Given the description of an element on the screen output the (x, y) to click on. 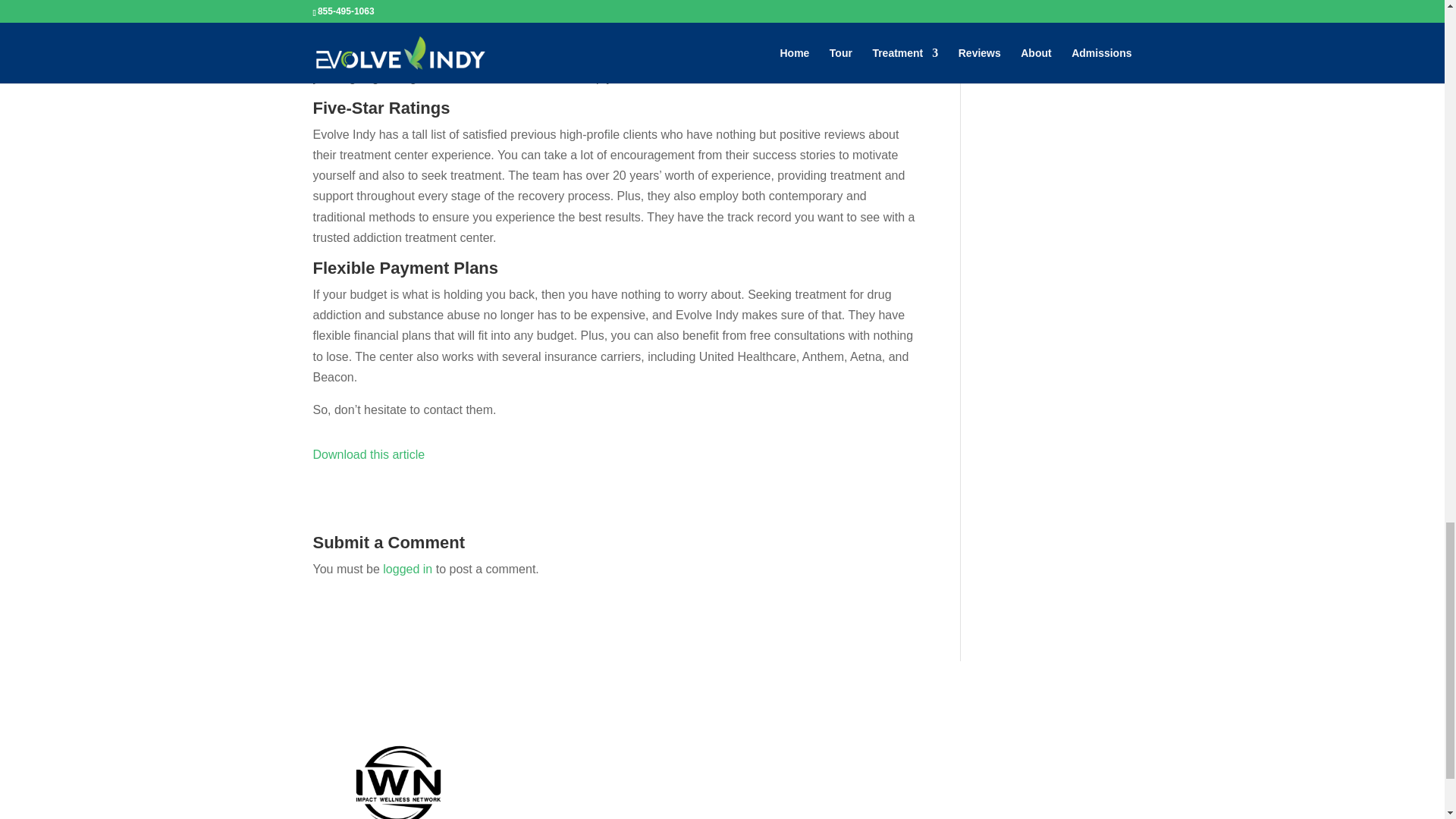
logged in (407, 568)
impactwellnessnetwork (397, 770)
Download this article (369, 454)
